Given the description of an element on the screen output the (x, y) to click on. 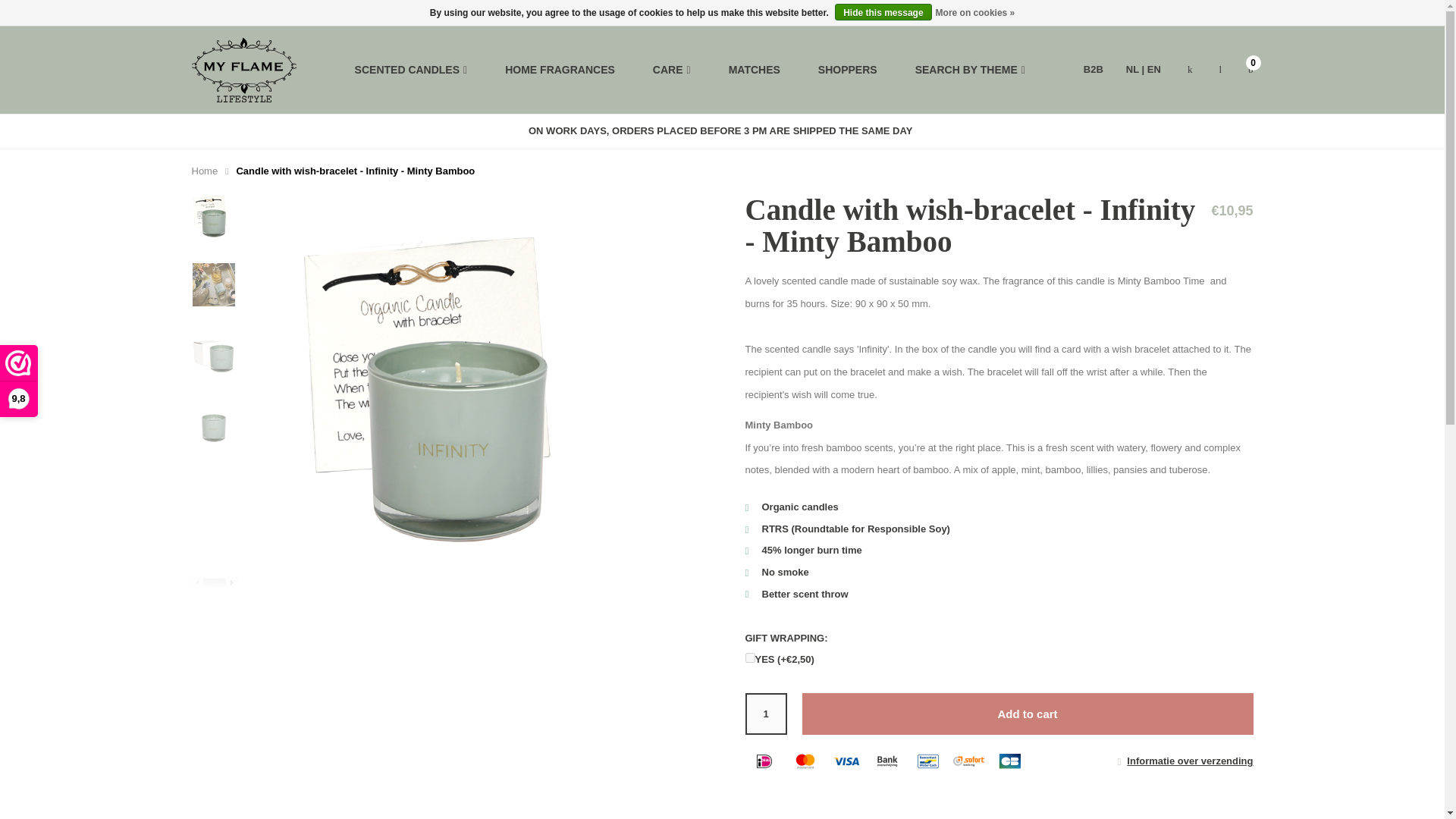
1 (765, 713)
71020442 (749, 657)
